Given the description of an element on the screen output the (x, y) to click on. 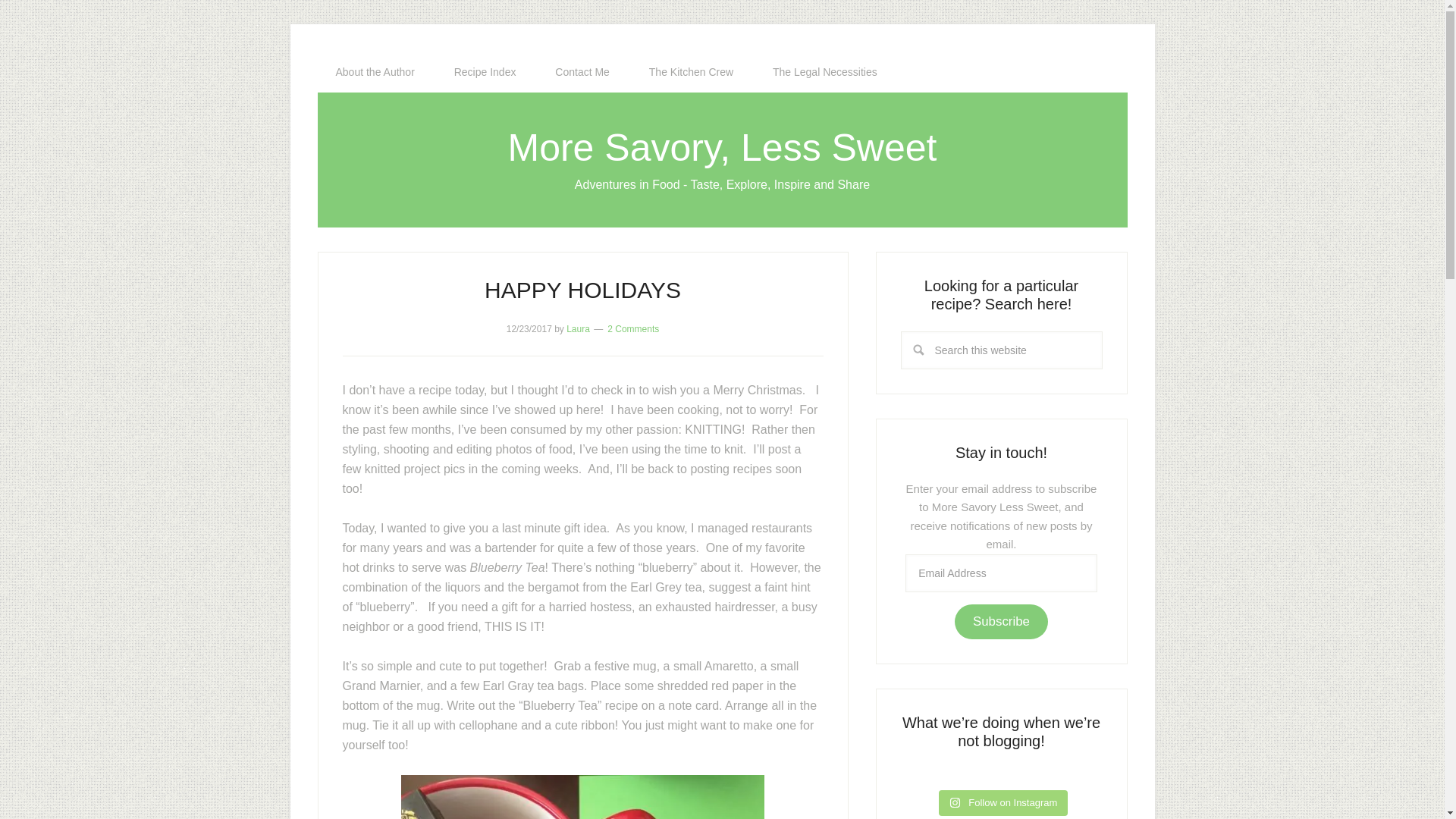
Laura (577, 328)
Recipe Index (484, 71)
Subscribe (1001, 621)
Follow on Instagram (1003, 802)
The Legal Necessities (824, 71)
More Savory, Less Sweet (722, 147)
The Kitchen Crew (690, 71)
Contact Me (582, 71)
About the Author (374, 71)
